Given the description of an element on the screen output the (x, y) to click on. 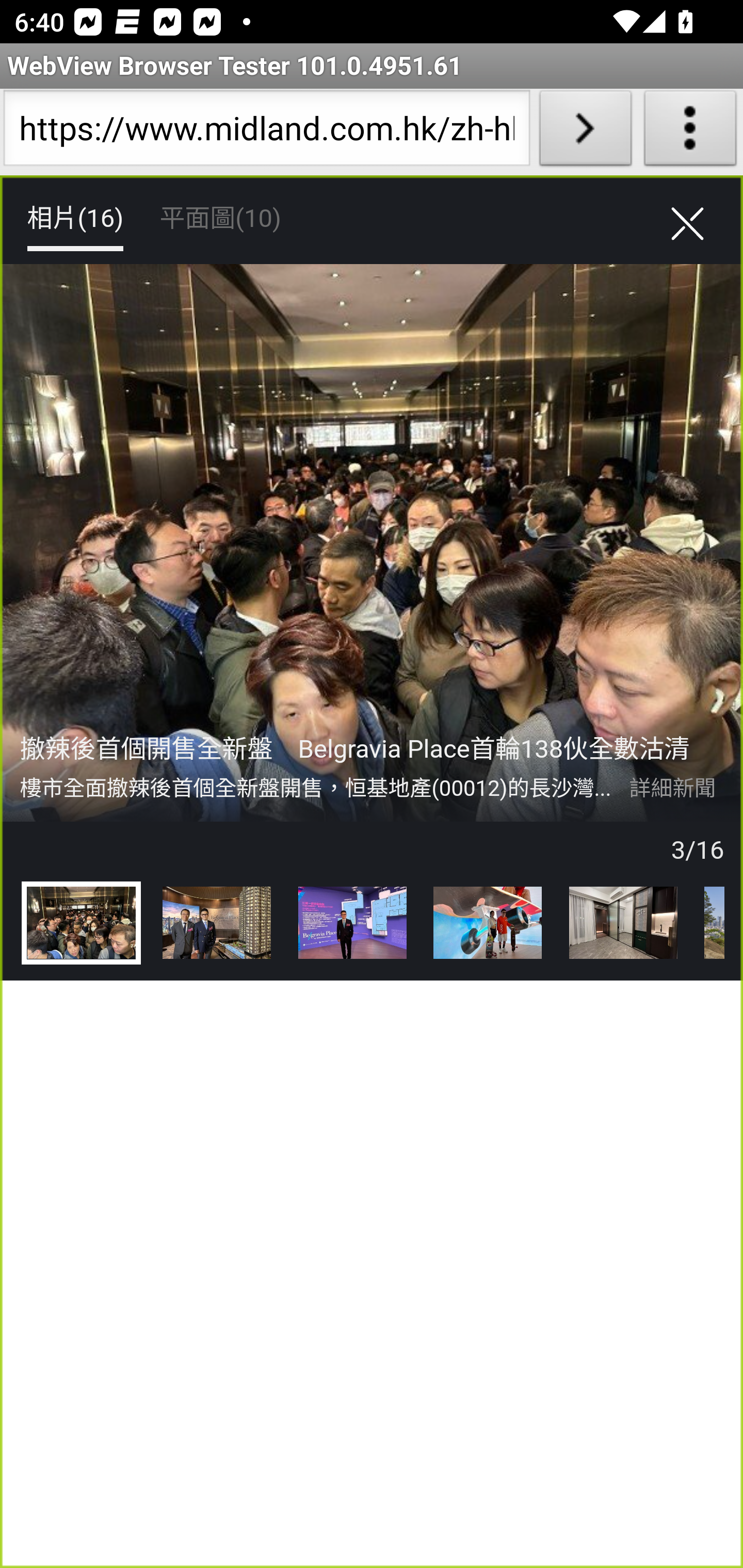
Load URL (585, 132)
About WebView (690, 132)
相片(16) (74, 218)
平面圖(10) (220, 218)
